Given the description of an element on the screen output the (x, y) to click on. 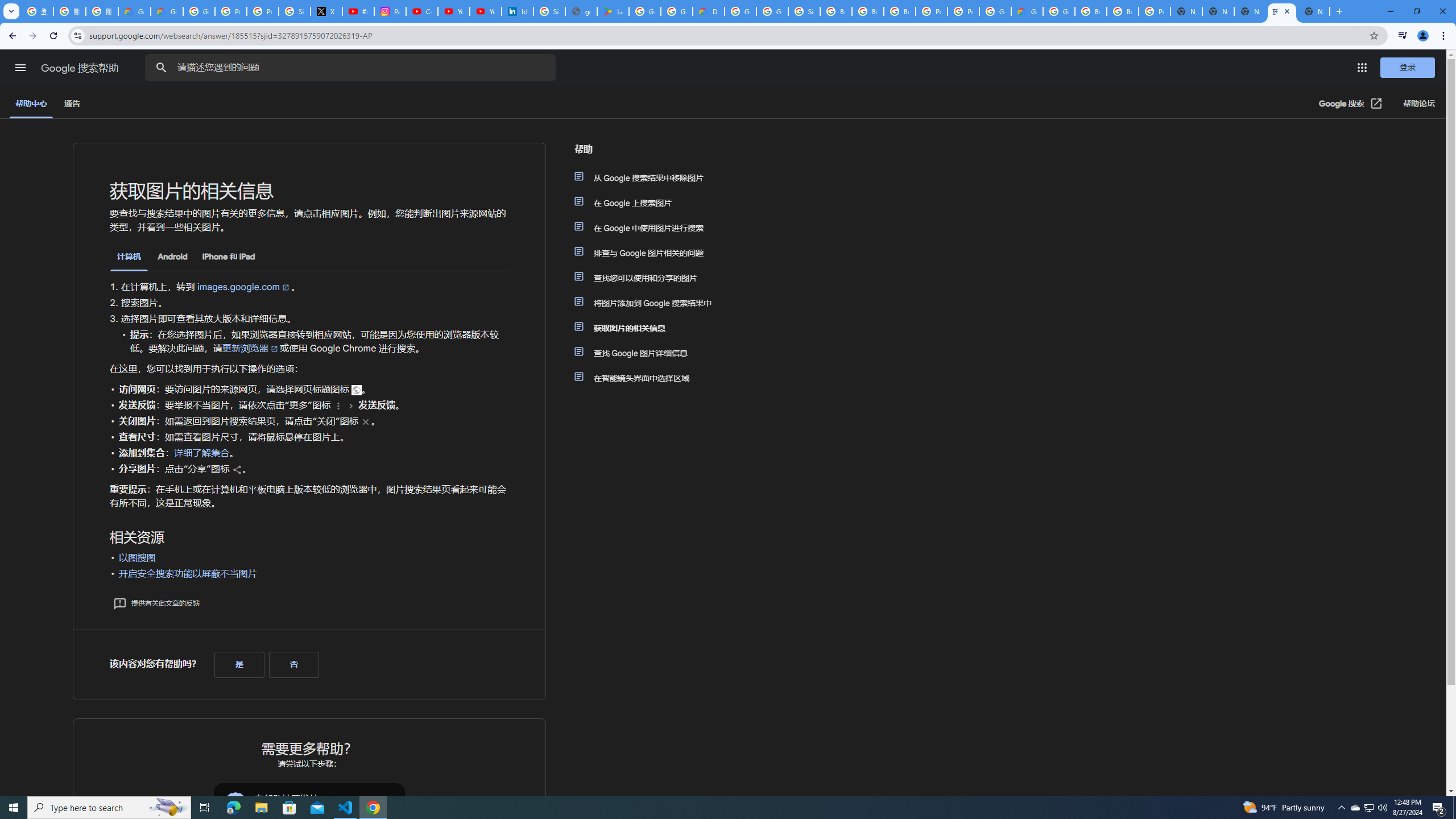
Google Cloud Privacy Notice (166, 11)
Privacy Help Center - Policies Help (262, 11)
Browse Chrome as a guest - Computer - Google Chrome Help (868, 11)
